Given the description of an element on the screen output the (x, y) to click on. 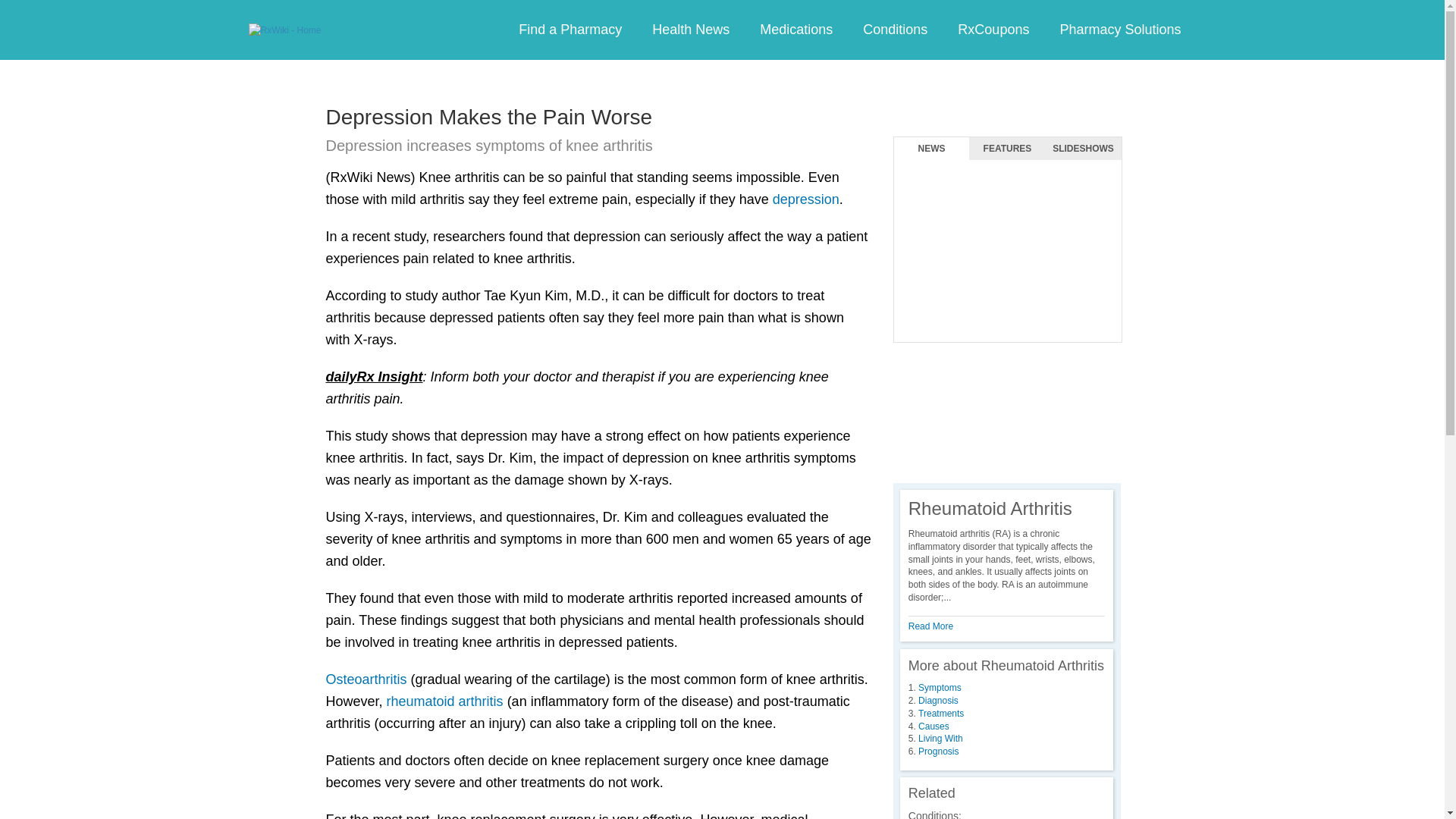
Health News (690, 29)
Osteoarthritis (366, 679)
Find a Pharmacy (570, 29)
Pharmacy Solutions (1119, 29)
RxWiki (284, 29)
rheumatoid arthritis (445, 701)
depression (806, 199)
Conditions (894, 29)
RxCoupons (992, 29)
Medications (795, 29)
